Given the description of an element on the screen output the (x, y) to click on. 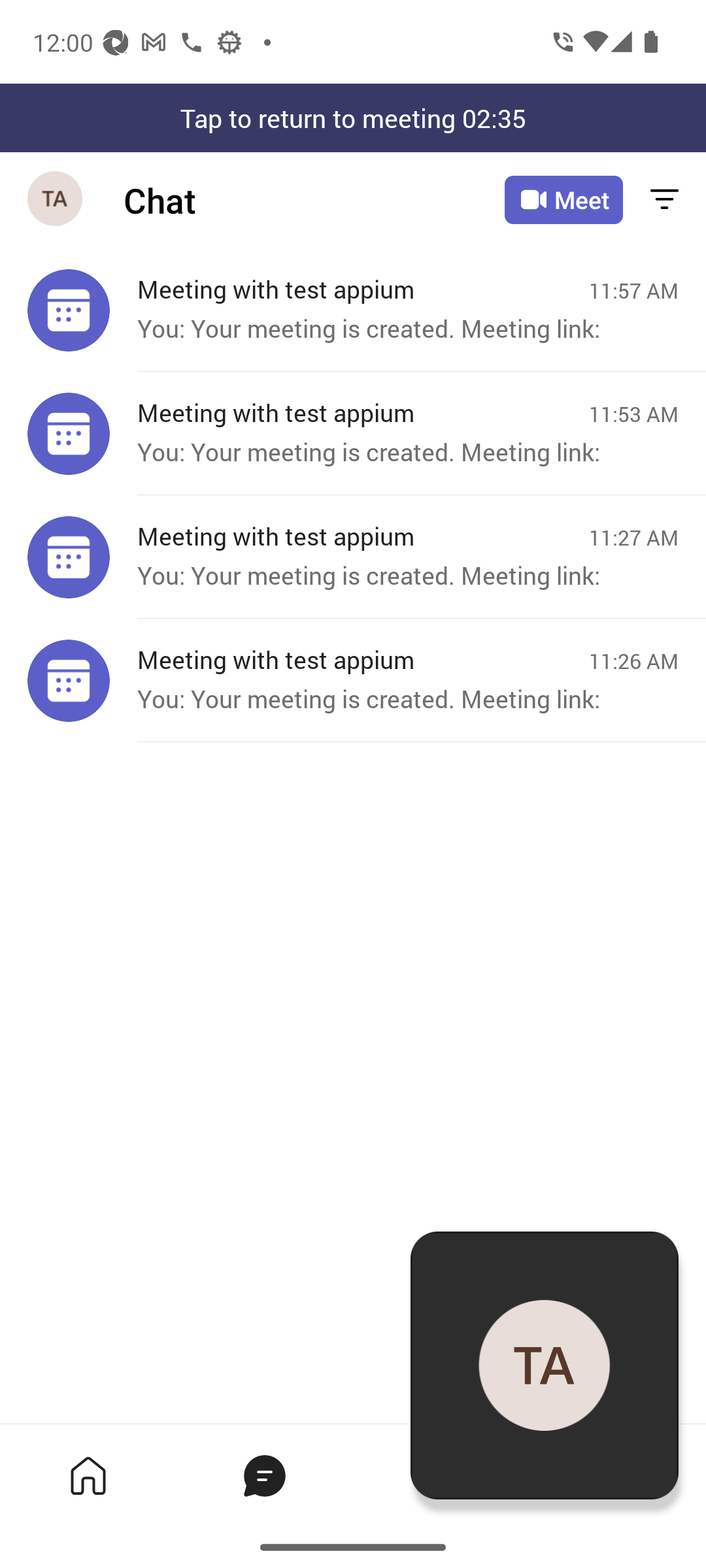
Tap to return to meeting 02:35 (353, 117)
Filter chat messages (664, 199)
Navigation (56, 199)
Meet Meet now or join with an ID (563, 199)
Home tab,1 of 4, not selected (88, 1475)
Chat tab, 2 of 4 (264, 1475)
